Given the description of an element on the screen output the (x, y) to click on. 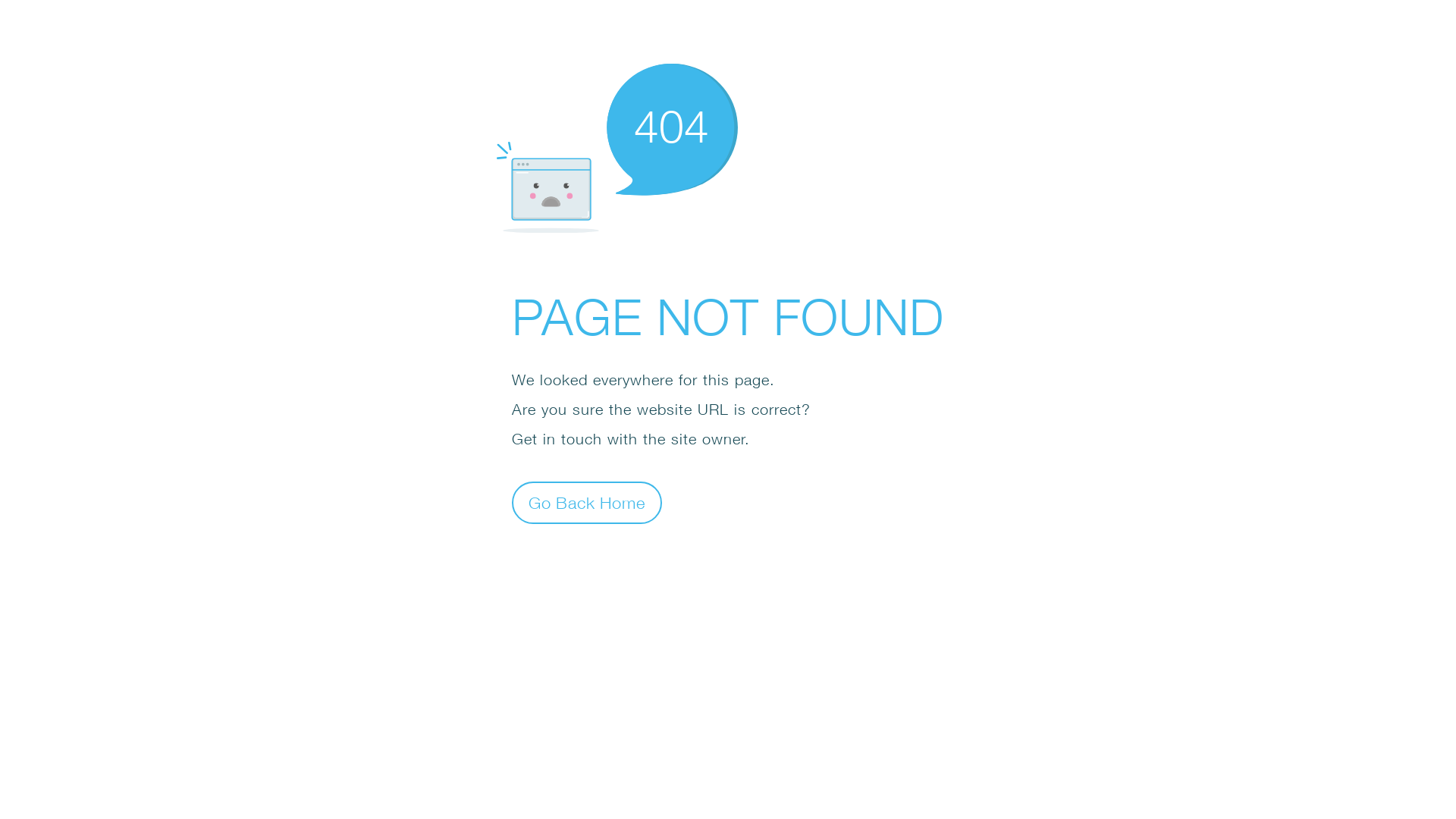
Go Back Home Element type: text (586, 502)
